Given the description of an element on the screen output the (x, y) to click on. 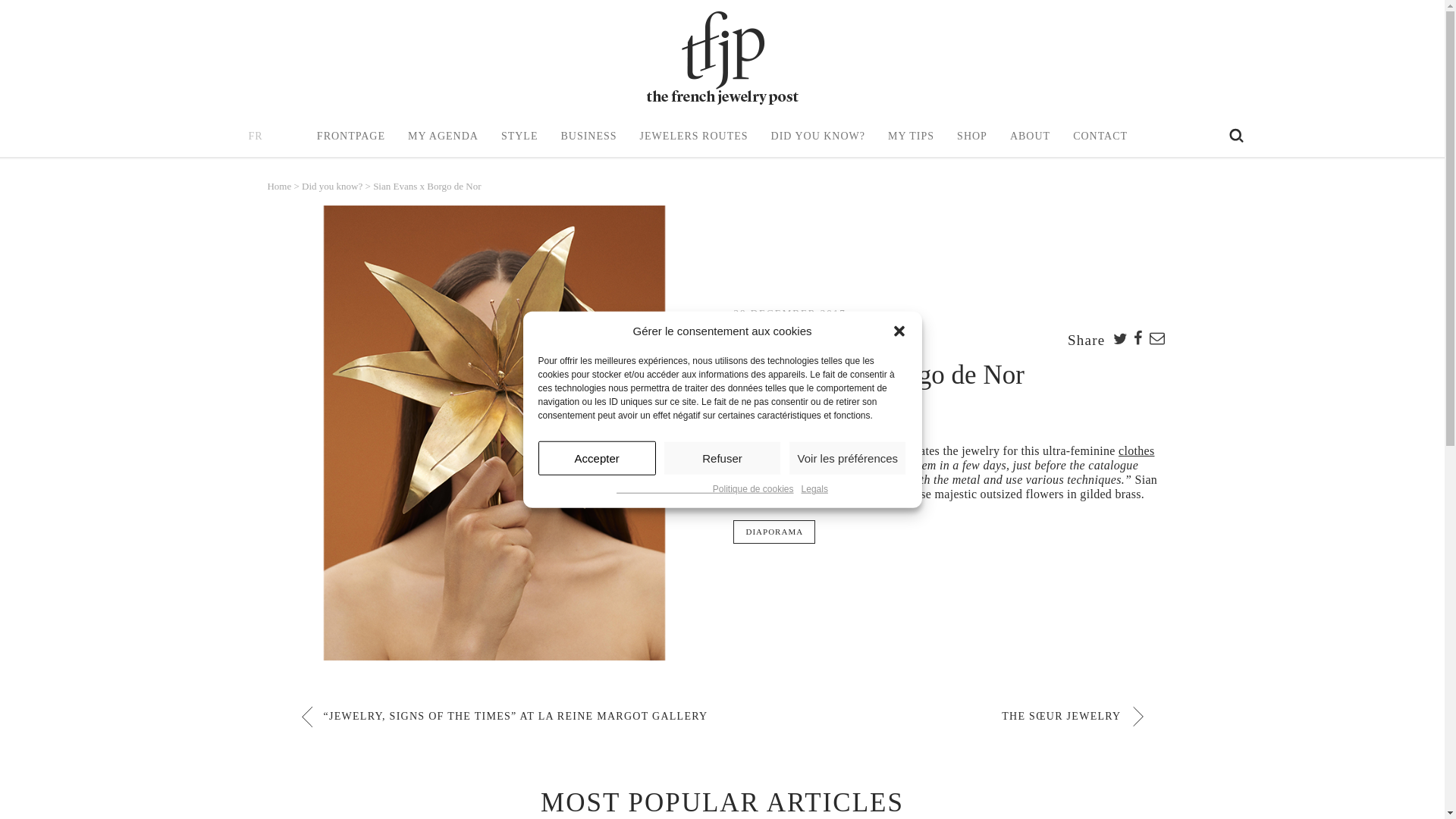
MY AGENDA (443, 136)
DID YOU KNOW? (817, 136)
FRONTPAGE (351, 136)
STYLE (519, 136)
                                      Politique de cookies (704, 489)
BUSINESS (587, 136)
JEWELERS ROUTES (694, 136)
Go to The French Jewelry Post. (280, 185)
Legals (815, 489)
CONTACT (1099, 136)
